Given the description of an element on the screen output the (x, y) to click on. 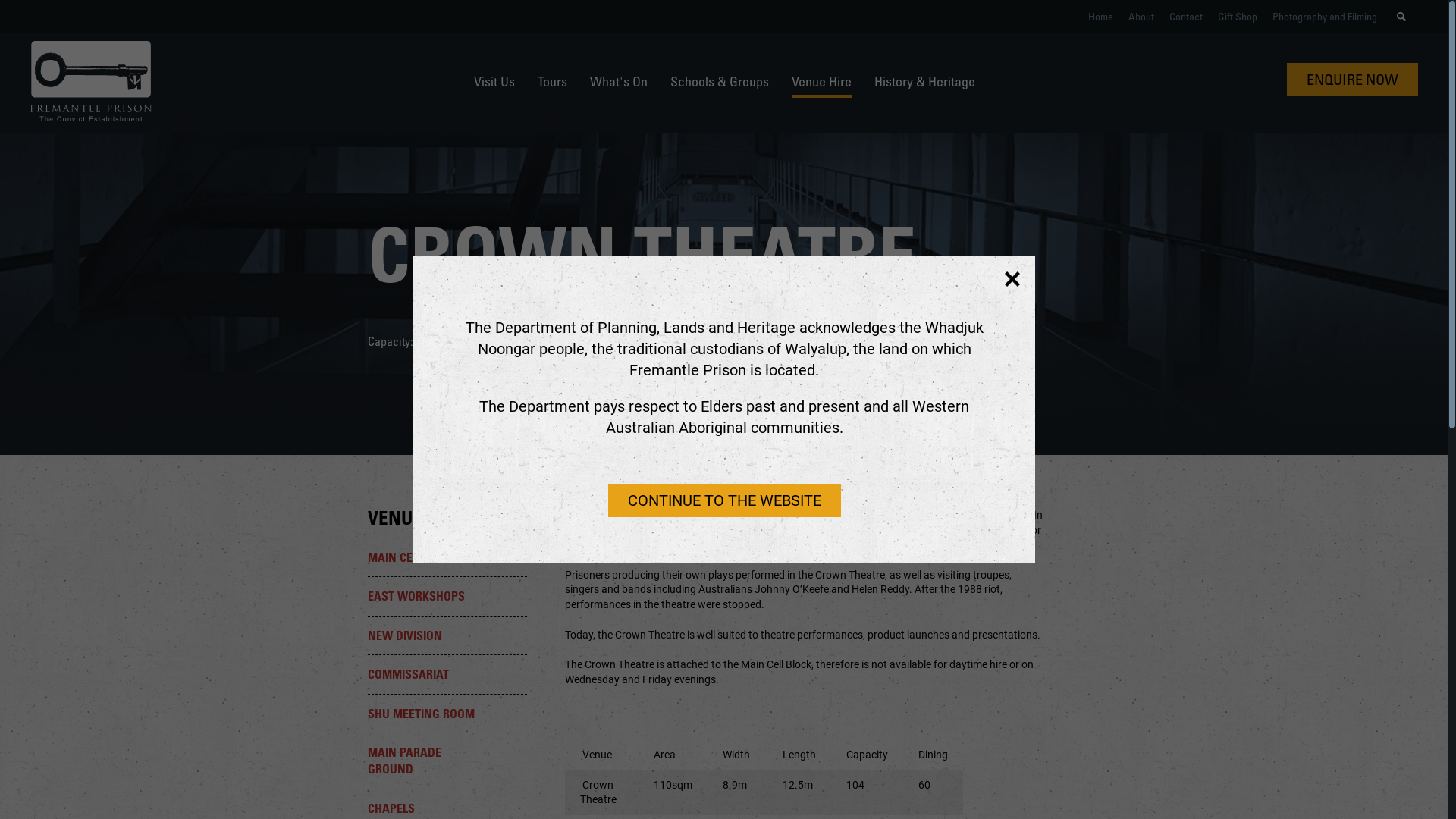
CONTINUE TO THE WEBSITE Element type: text (724, 500)
Home Element type: text (1100, 16)
Visit Us Element type: text (493, 80)
EAST WORKSHOPS Element type: text (447, 595)
Enquire now Element type: hover (1352, 79)
Venue Hire Element type: text (821, 80)
Contact Element type: text (1185, 16)
What's On Element type: text (618, 80)
NEW DIVISION Element type: text (447, 634)
About Element type: text (1140, 16)
Schools & Groups Element type: text (719, 80)
SHU MEETING ROOM Element type: text (447, 712)
MAIN PARADE GROUND Element type: text (447, 760)
MAIN CELL BLOCK Element type: text (447, 557)
Gift Shop Element type: text (1237, 16)
Photography and Filming Element type: text (1324, 16)
Submit Element type: text (1401, 16)
COMMISSARIAT Element type: text (447, 673)
History & Heritage Element type: text (923, 80)
Tours Element type: text (551, 80)
